Given the description of an element on the screen output the (x, y) to click on. 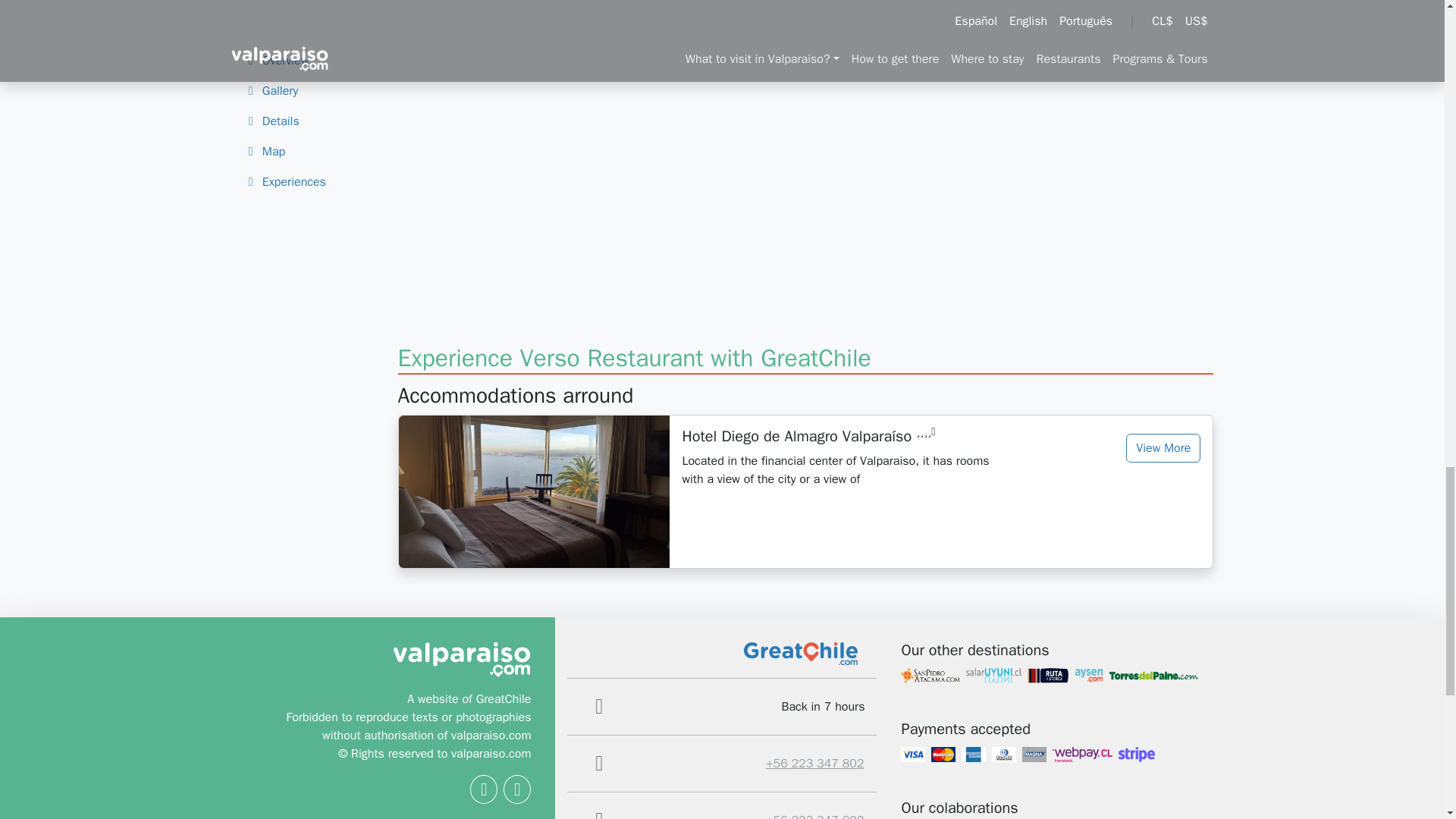
View More (1162, 448)
Back in 7 hours (814, 763)
Back in 7 hours (814, 814)
